Given the description of an element on the screen output the (x, y) to click on. 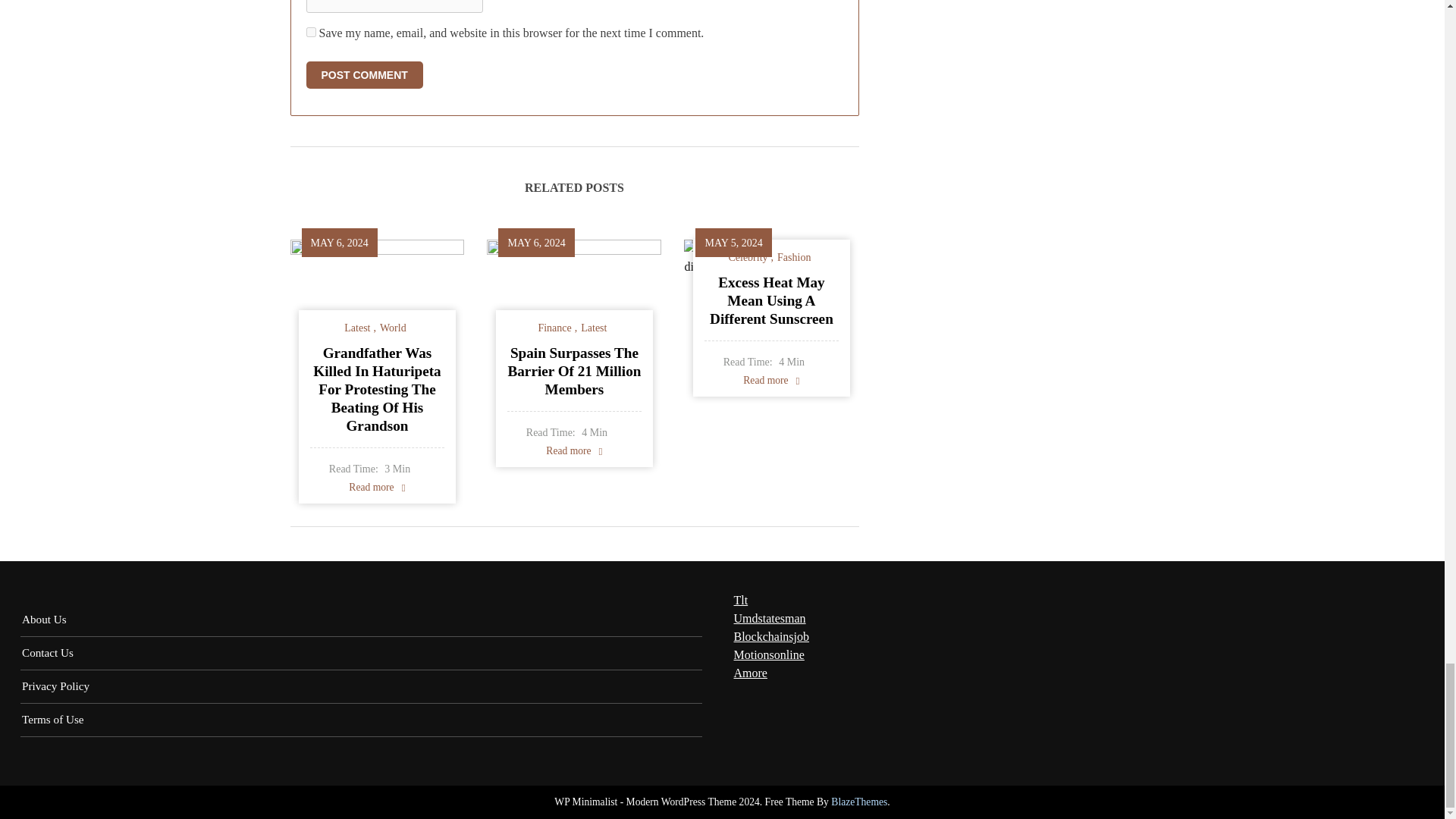
Post Comment (364, 74)
Post Comment (364, 74)
Latest (359, 327)
yes (310, 31)
MAY 6, 2024 (339, 241)
